Given the description of an element on the screen output the (x, y) to click on. 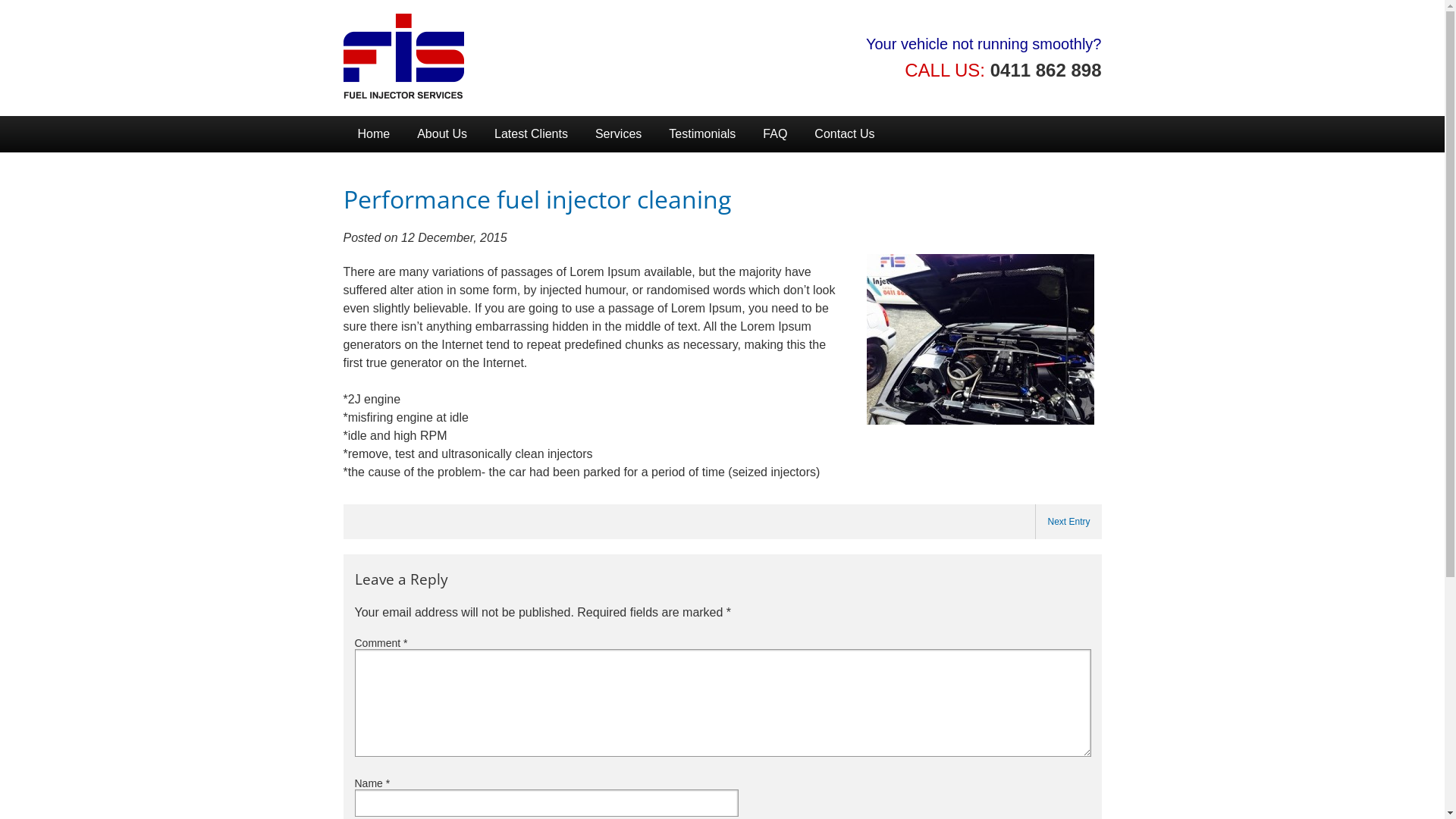
FAQ Element type: text (774, 134)
About Us Element type: text (442, 134)
Home Element type: text (373, 134)
Next Entry Element type: text (1068, 521)
Contact Us Element type: text (844, 134)
Testimonials Element type: text (701, 134)
Latest Clients Element type: text (530, 134)
Services Element type: text (618, 134)
